Given the description of an element on the screen output the (x, y) to click on. 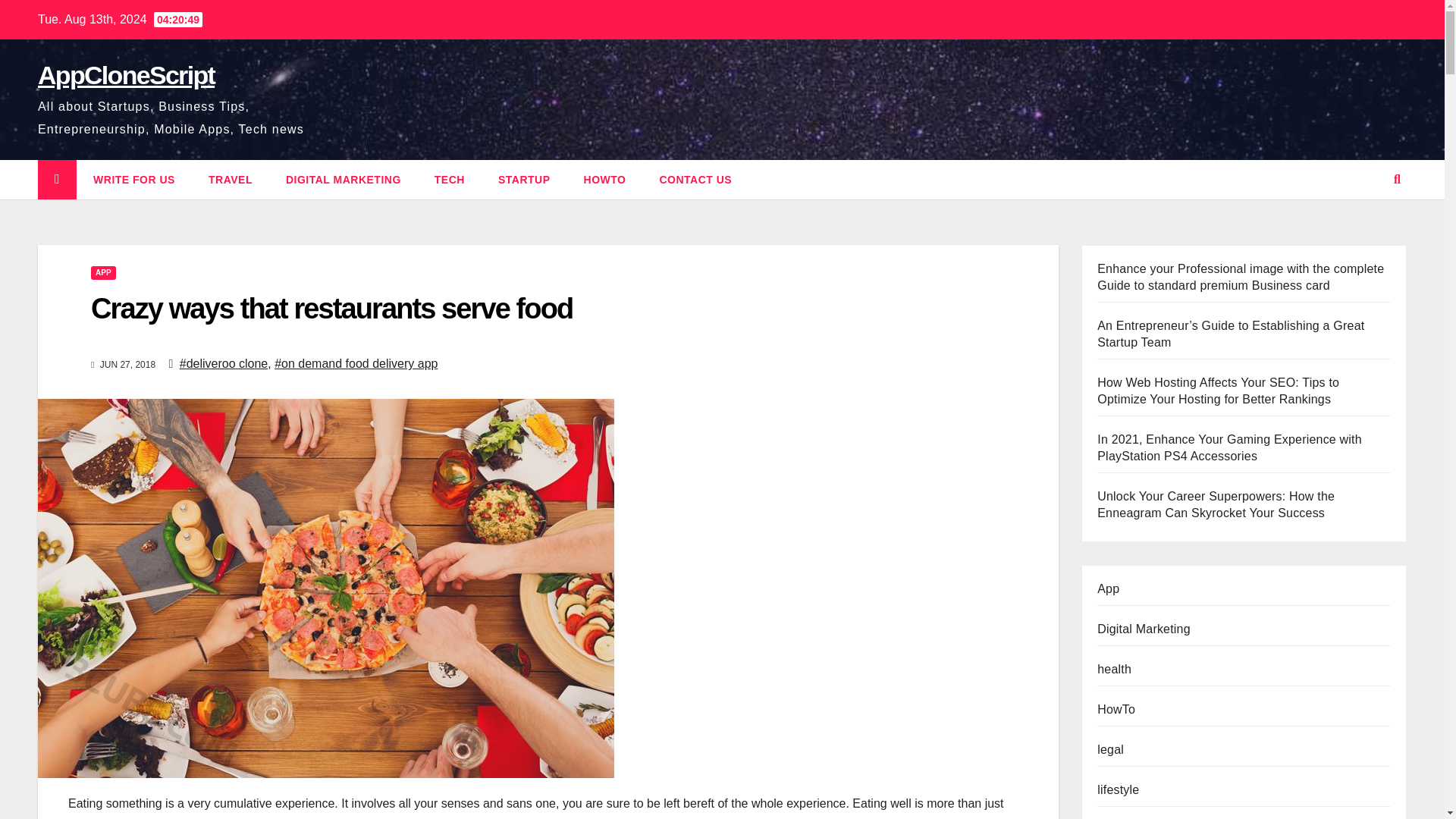
TECH (449, 179)
Startup (524, 179)
HowTo (605, 179)
DIGITAL MARKETING (343, 179)
CONTACT US (695, 179)
Crazy ways that restaurants serve food (331, 308)
HOWTO (605, 179)
AppCloneScript (125, 74)
Digital Marketing (343, 179)
TRAVEL (230, 179)
